Given the description of an element on the screen output the (x, y) to click on. 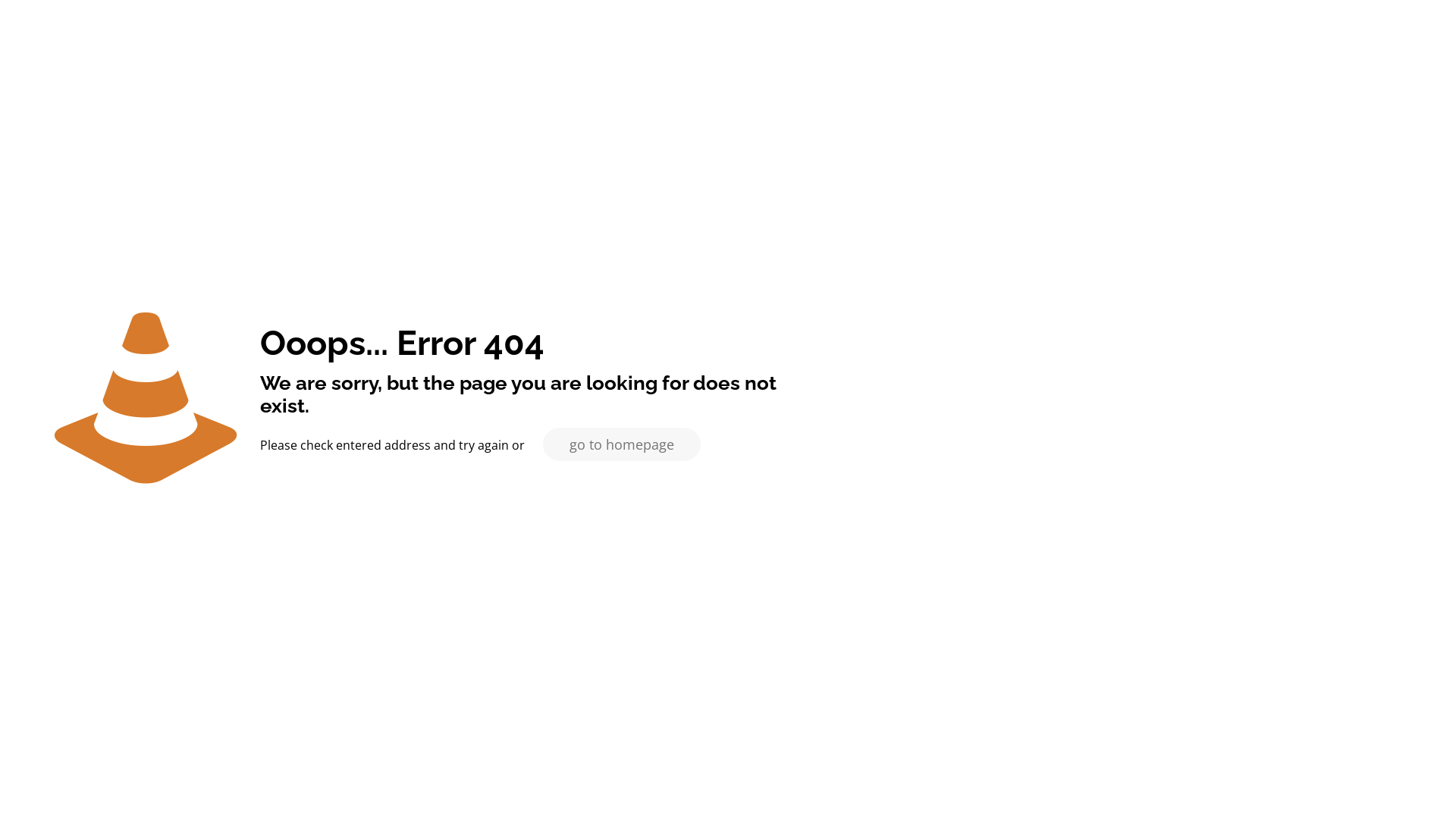
go to homepage Element type: text (621, 444)
